Given the description of an element on the screen output the (x, y) to click on. 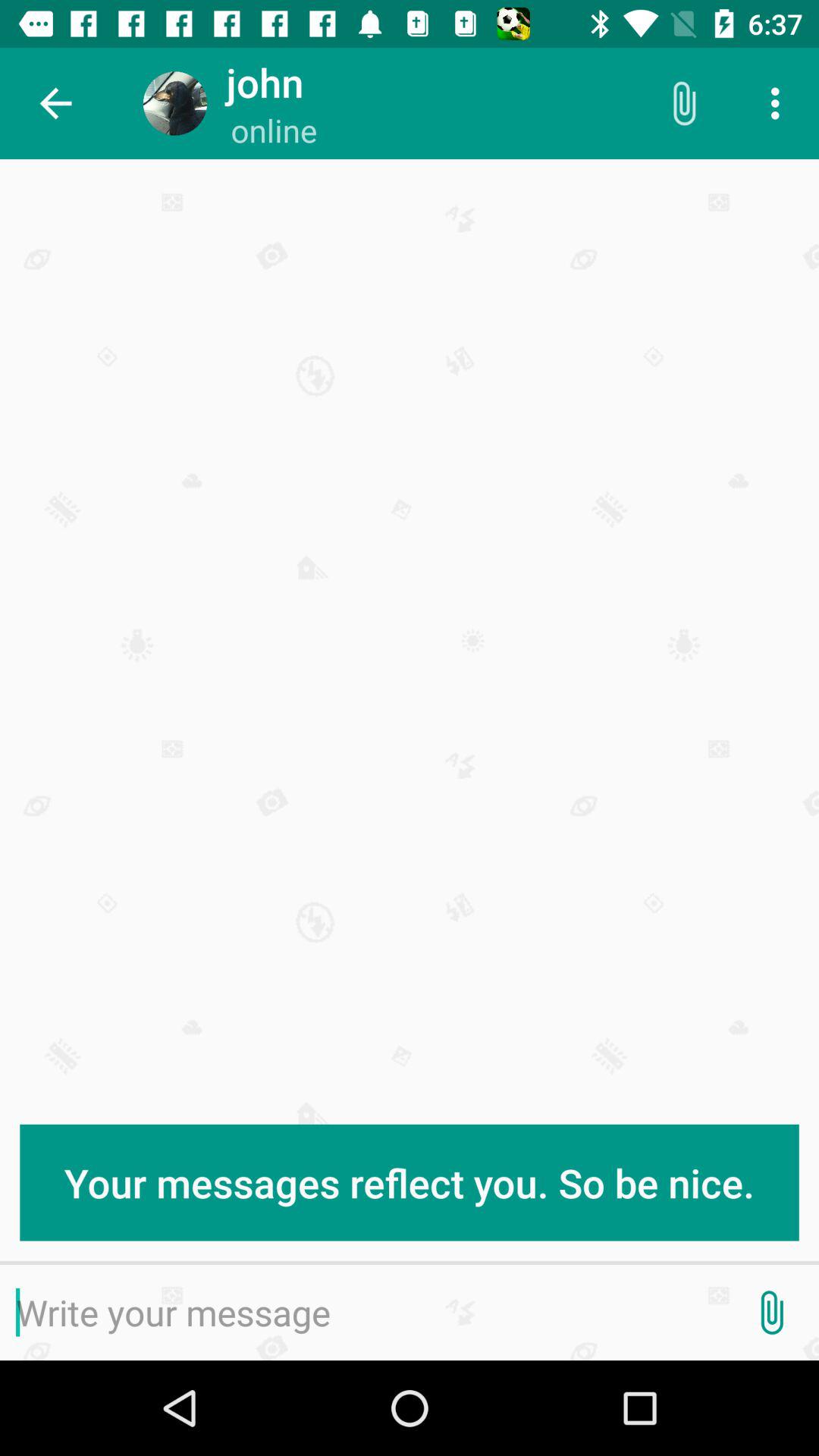
attach file (771, 1312)
